Given the description of an element on the screen output the (x, y) to click on. 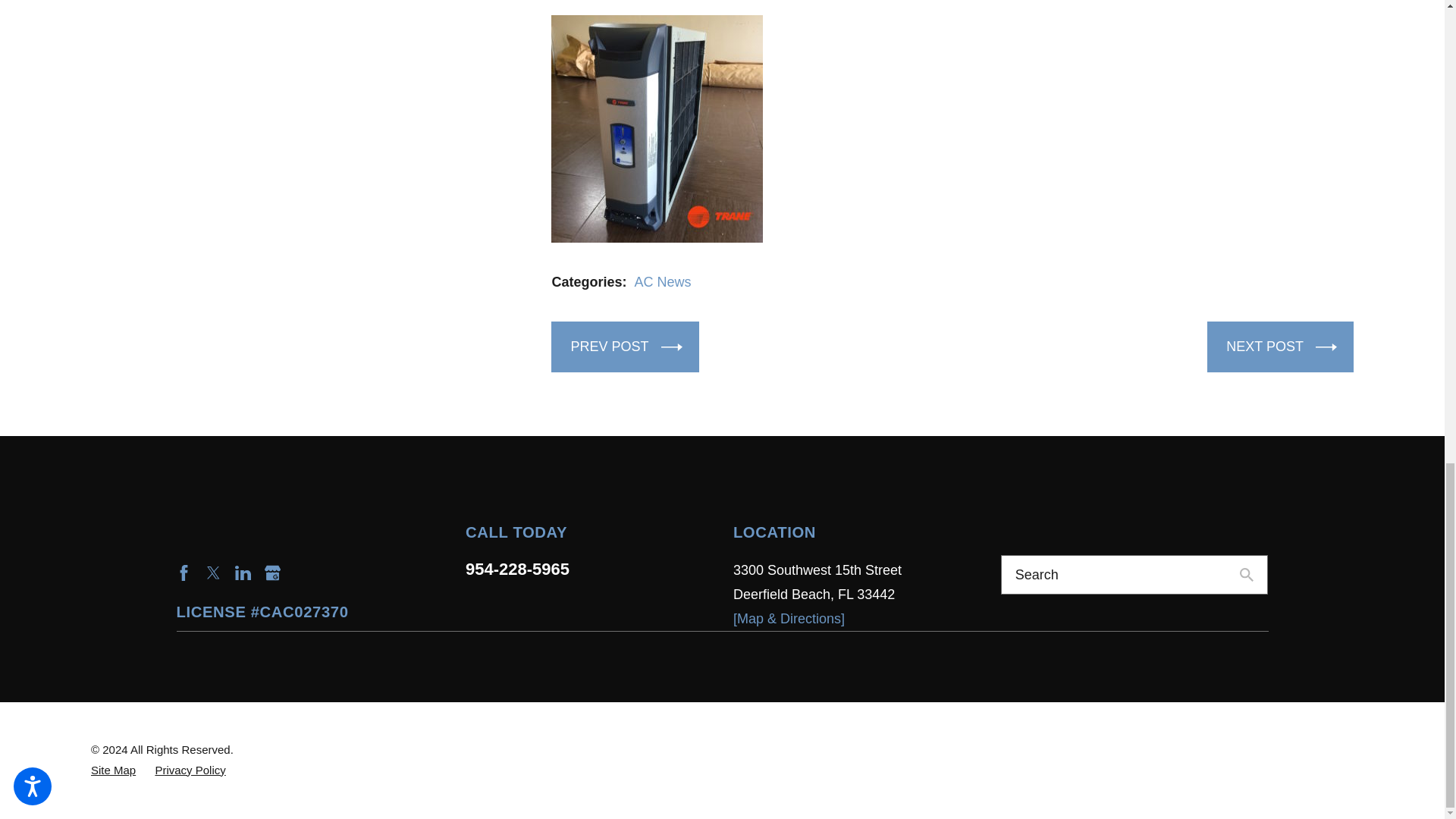
LinkedIn (242, 572)
Facebook (184, 572)
Twitter (213, 572)
Google Business Profile (272, 572)
